Given the description of an element on the screen output the (x, y) to click on. 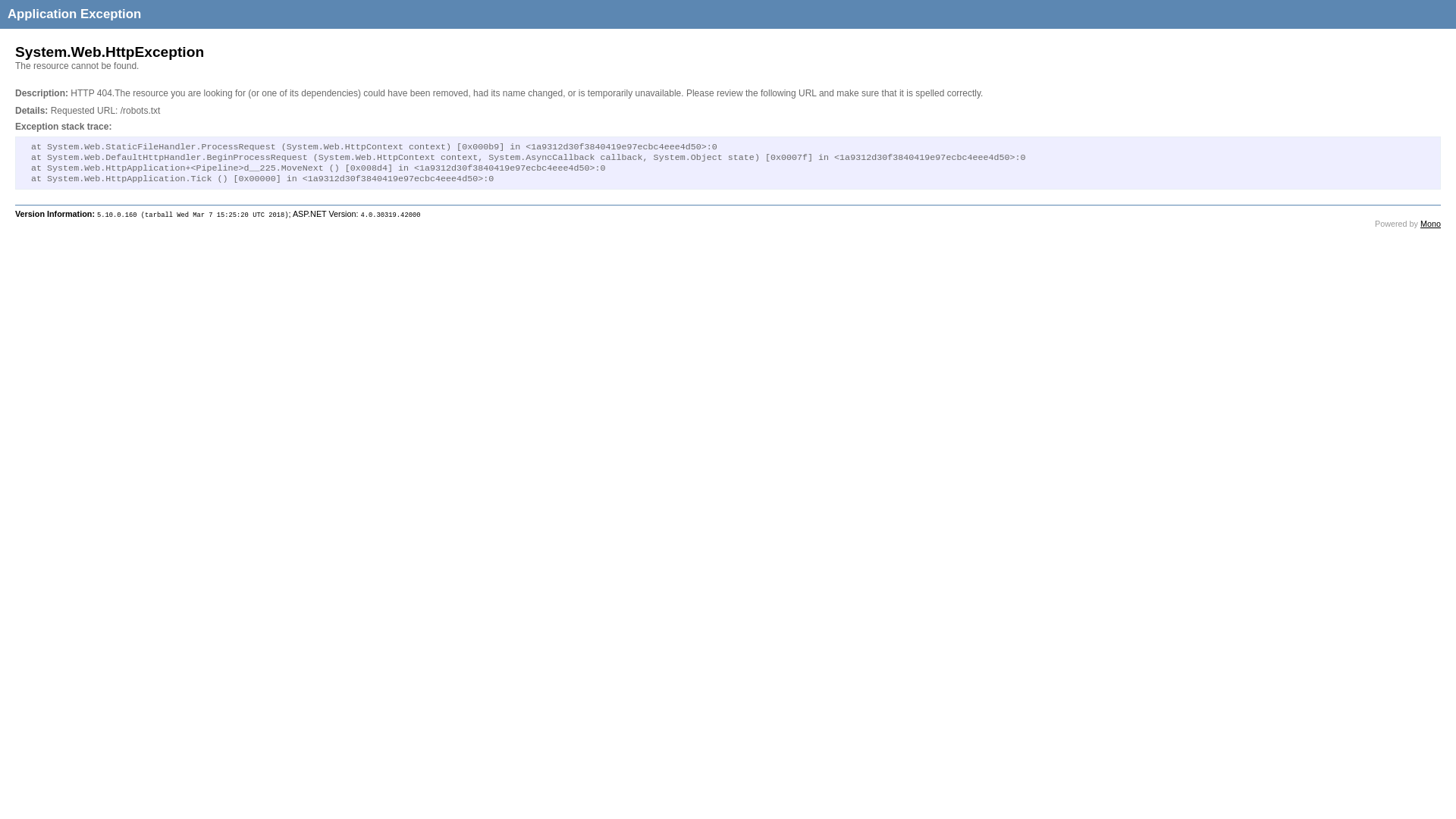
Mono Element type: text (1430, 223)
